Given the description of an element on the screen output the (x, y) to click on. 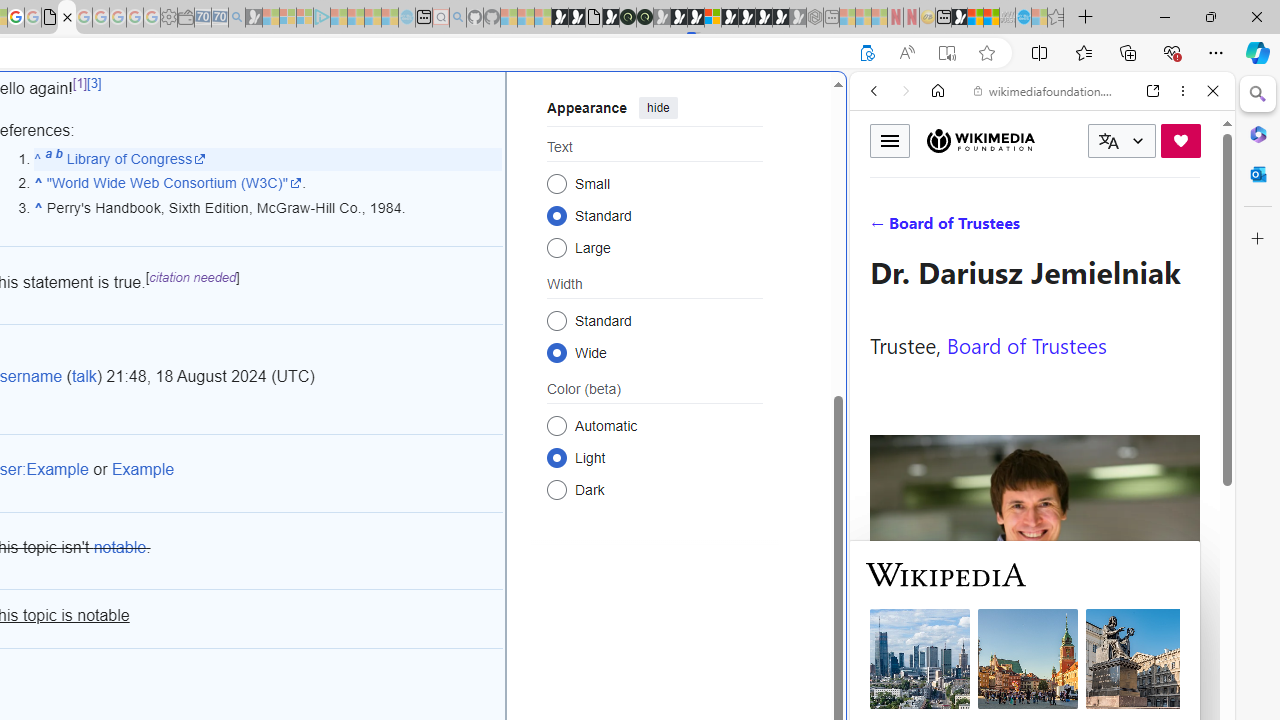
notable (120, 548)
Library of Congress (136, 158)
Earth has six continents not seven, radical new study claims (991, 17)
